Given the description of an element on the screen output the (x, y) to click on. 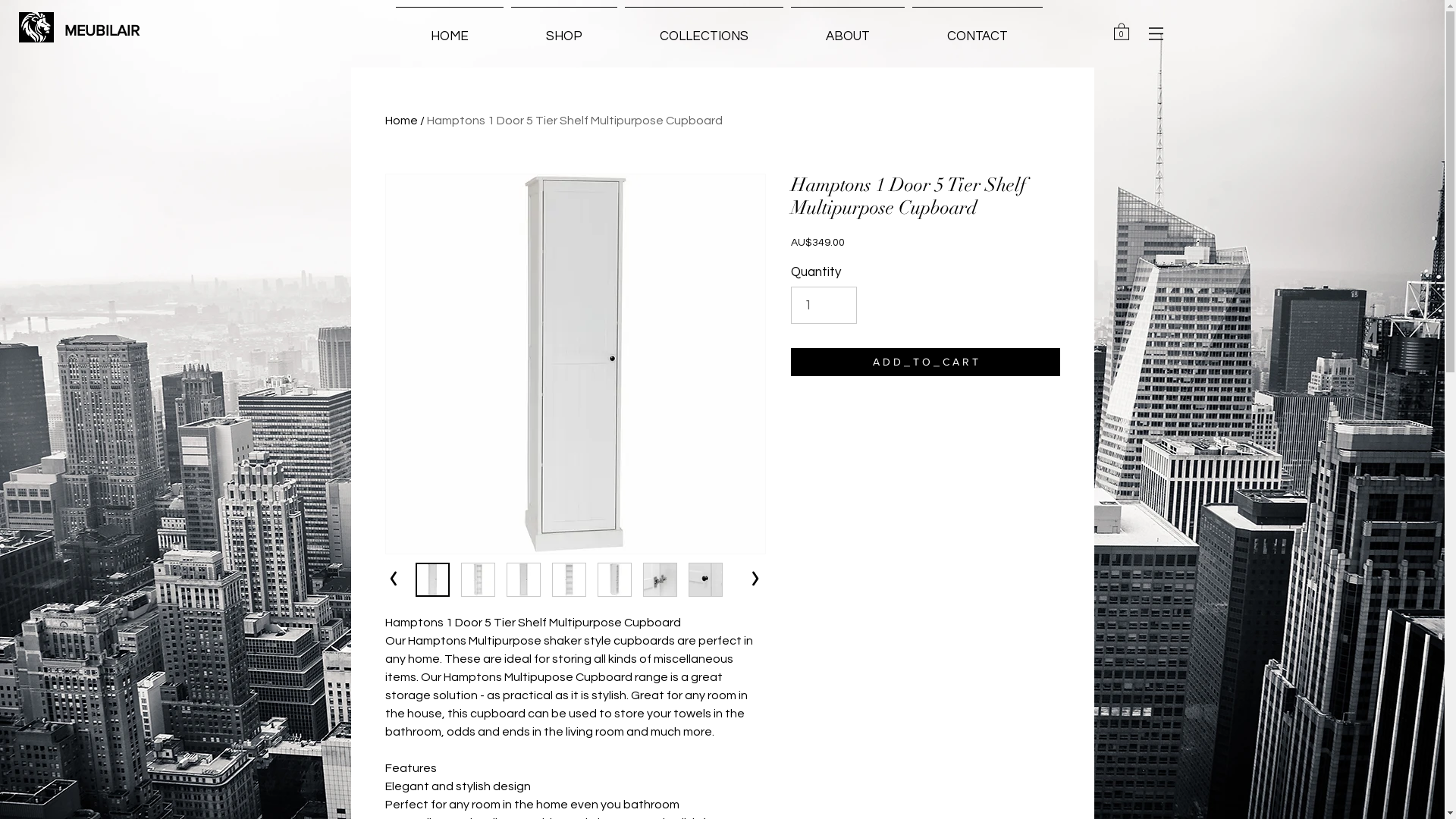
0 Element type: text (1120, 30)
CONTACT Element type: text (977, 29)
MEUBILAIR Element type: text (101, 30)
Home Element type: text (401, 120)
Hamptons 1 Door 5 Tier Shelf Multipurpose Cupboard Element type: text (573, 120)
COLLECTIONS Element type: text (703, 29)
HOME Element type: text (448, 29)
ABOUT Element type: text (847, 29)
A D D _ T O _ C A R T Element type: text (924, 362)
SHOP Element type: text (563, 29)
